Given the description of an element on the screen output the (x, y) to click on. 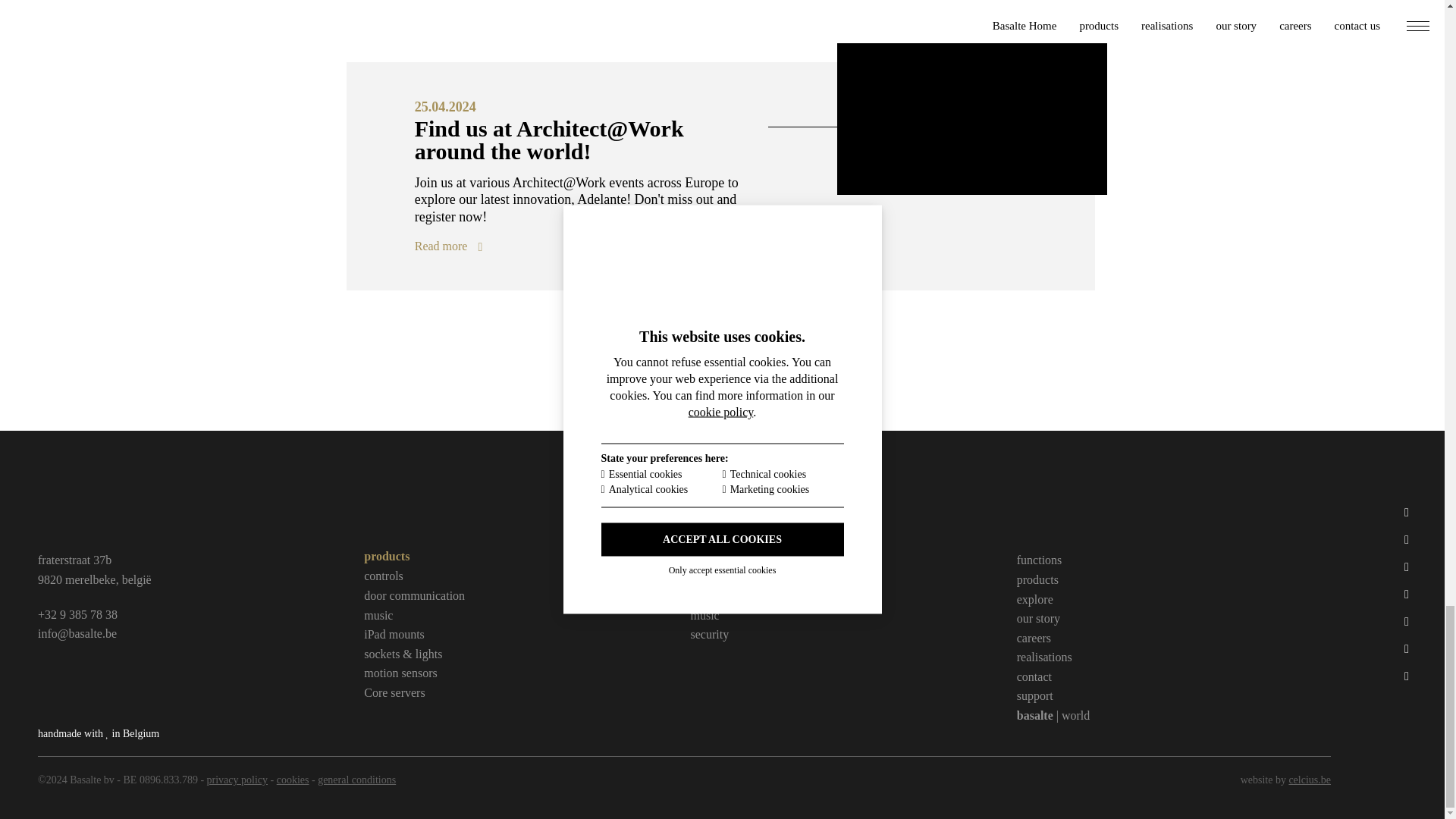
motion sensors (400, 673)
Core servers (394, 692)
controls (383, 576)
iPad mounts (394, 634)
door communication (414, 596)
music (378, 615)
